Given the description of an element on the screen output the (x, y) to click on. 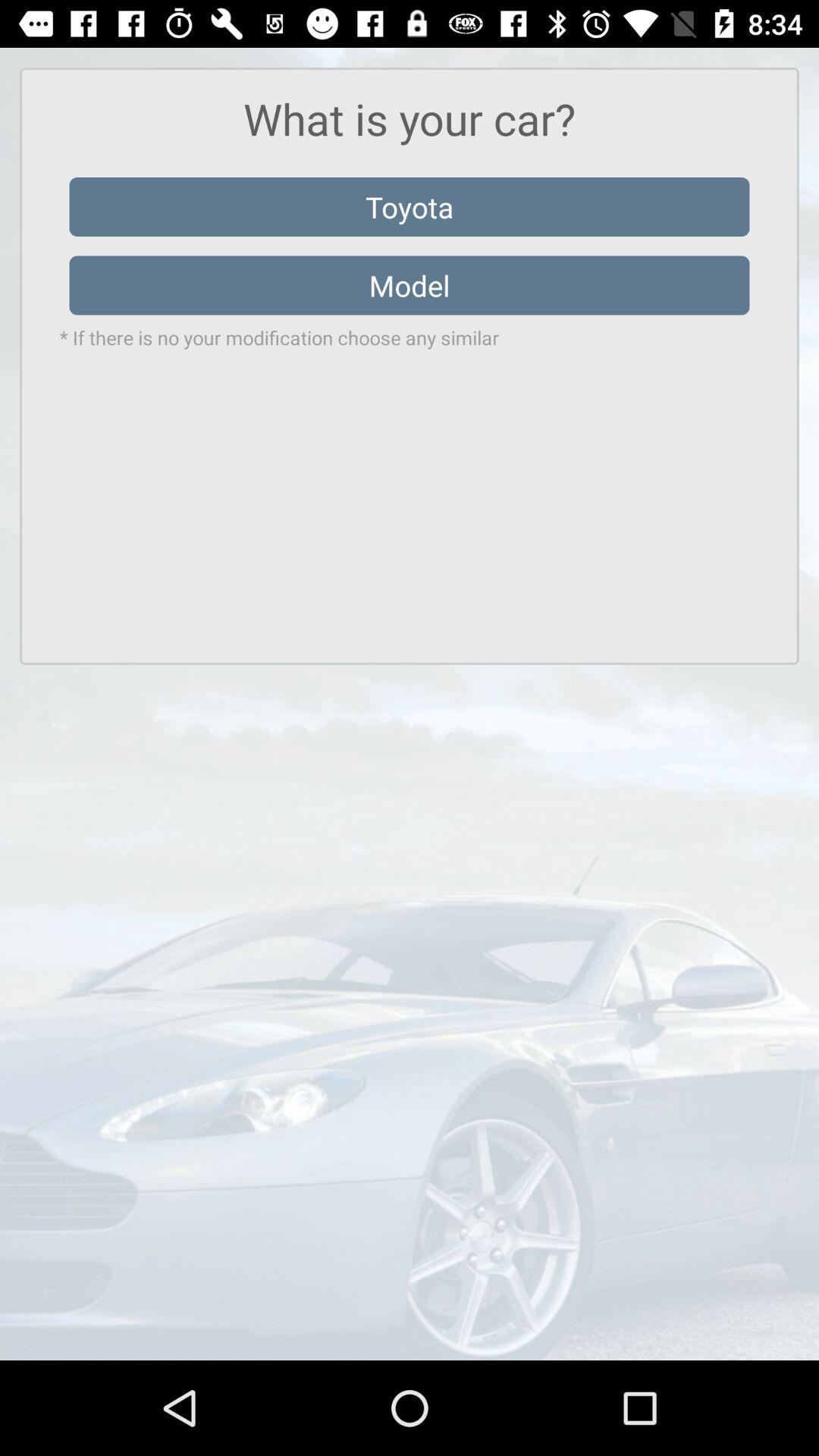
jump to model icon (409, 285)
